Given the description of an element on the screen output the (x, y) to click on. 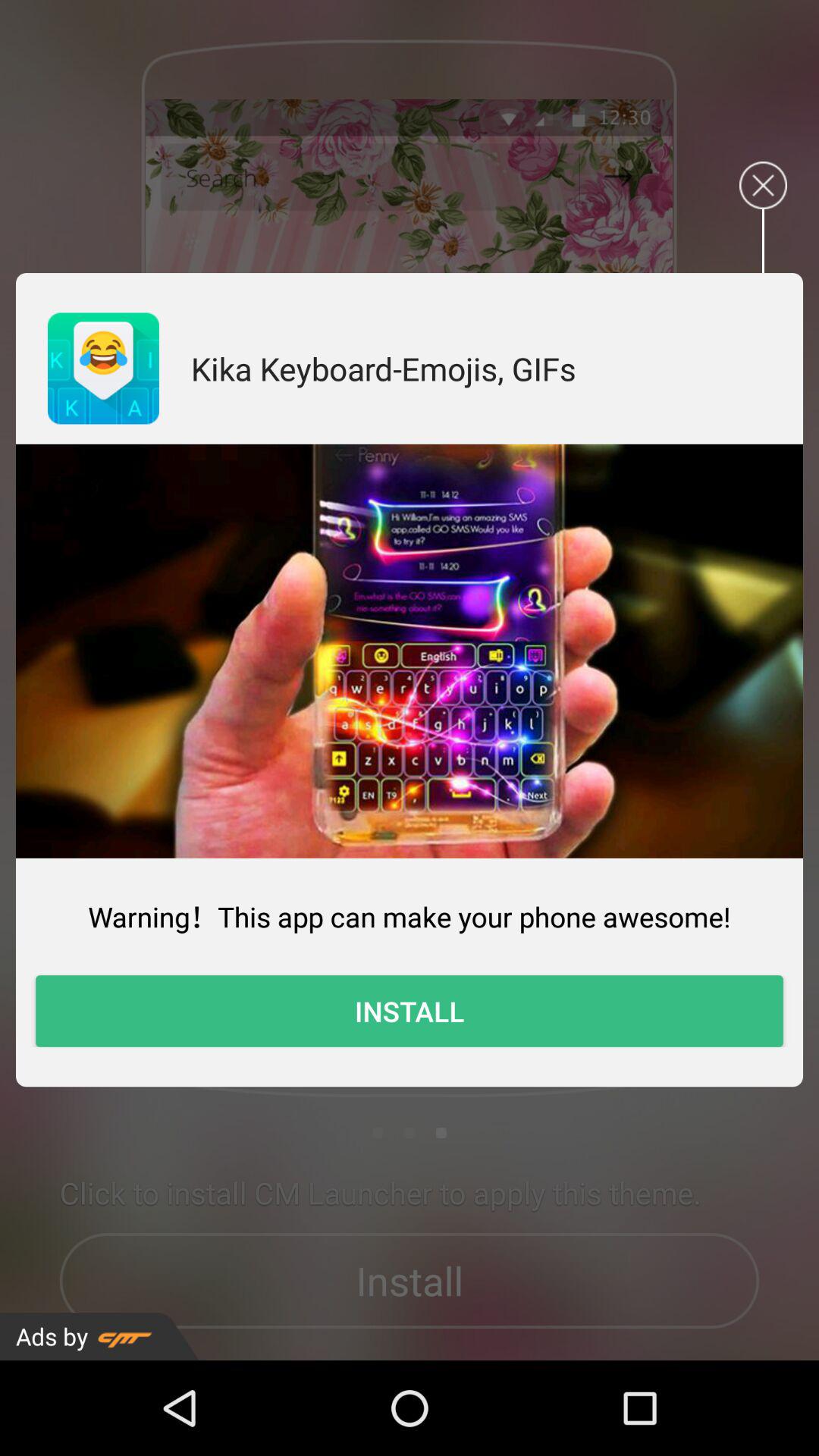
tap app to the left of kika keyboard emojis (103, 368)
